Given the description of an element on the screen output the (x, y) to click on. 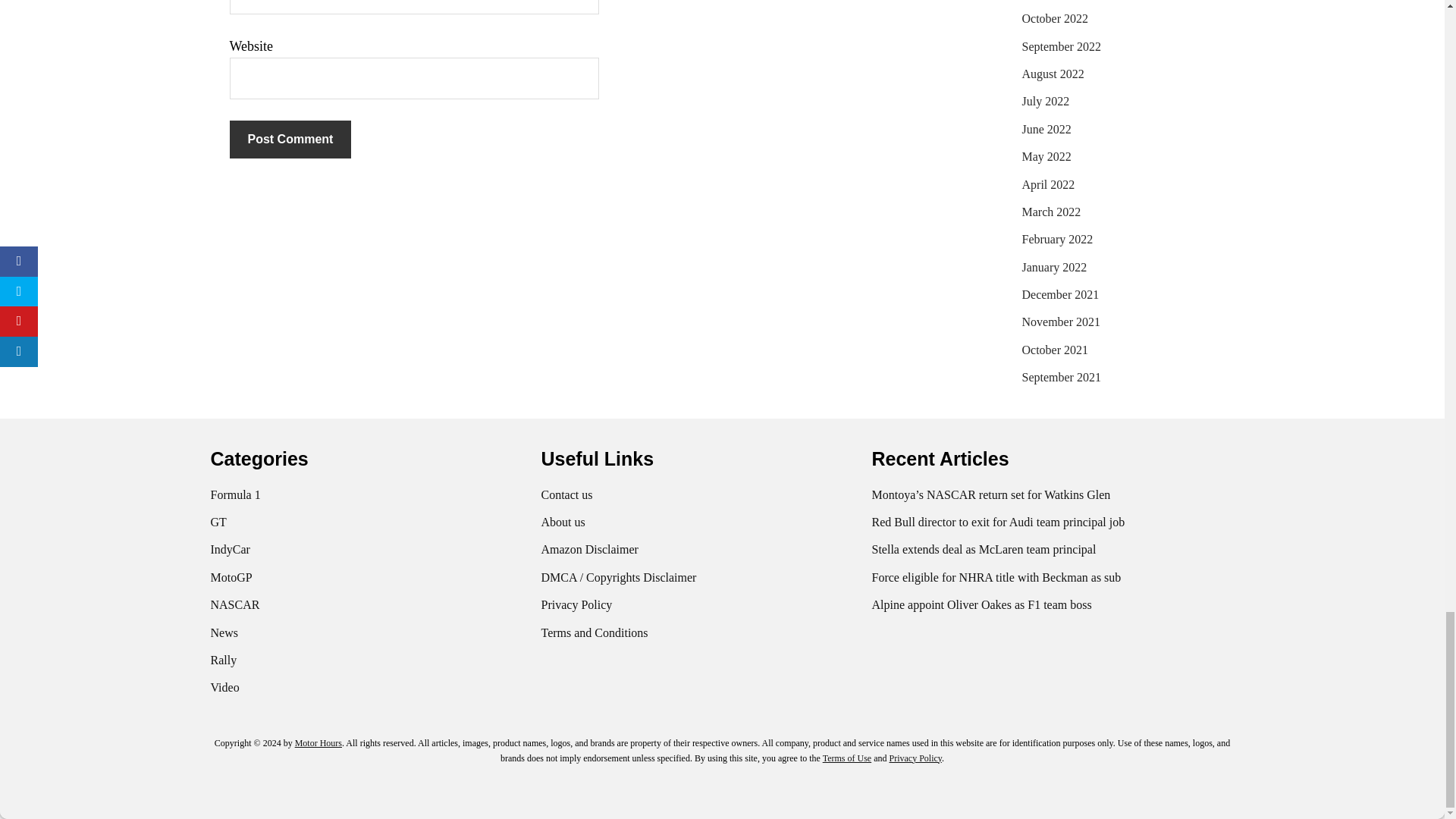
Post Comment (289, 139)
